Given the description of an element on the screen output the (x, y) to click on. 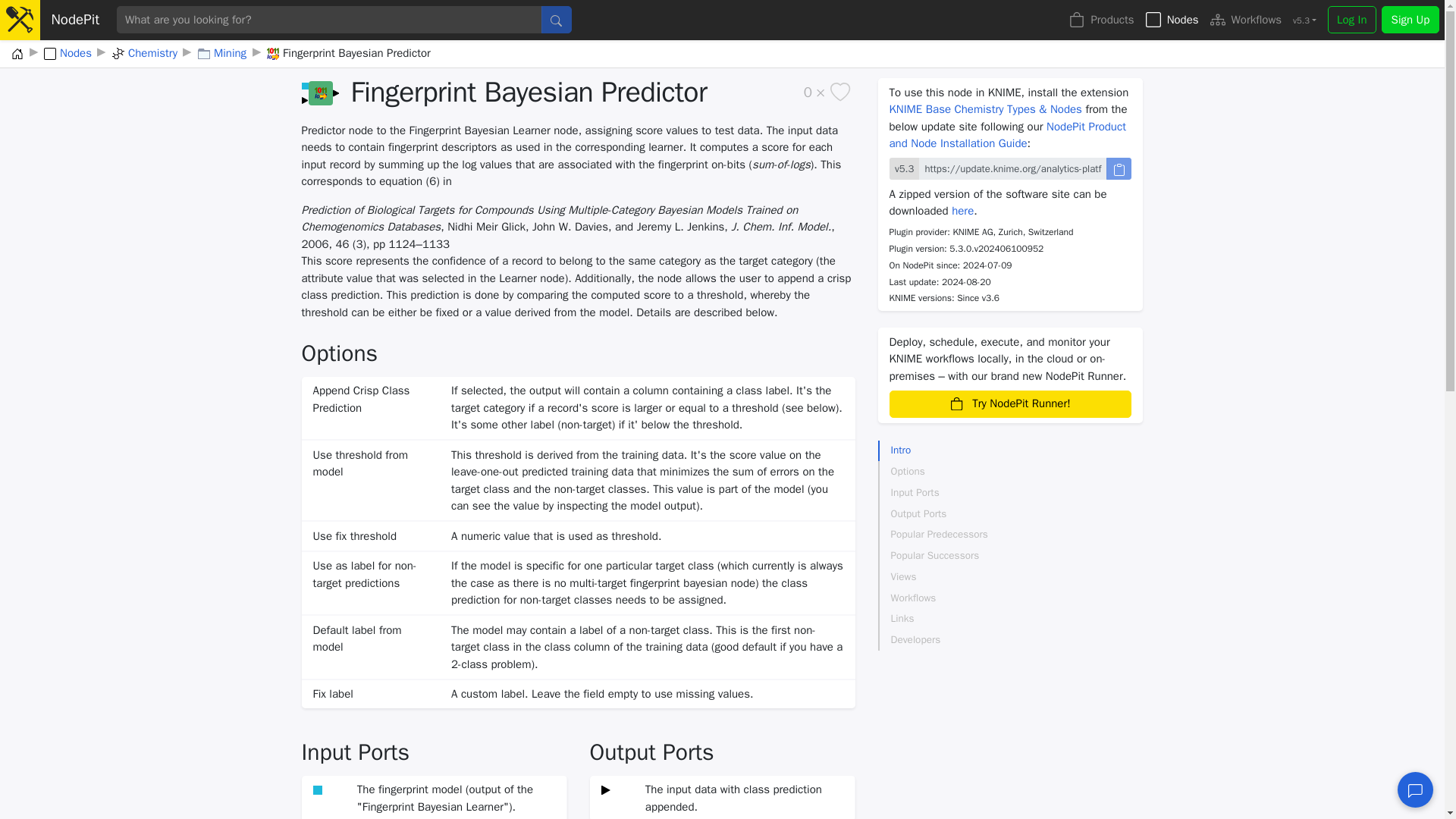
Port 0: Fingerprint Bayesian Model (318, 789)
Mining (222, 54)
Nodes (1172, 20)
Nodes (67, 54)
Workflows (1245, 20)
Products (1102, 20)
NodePit (80, 20)
Port 0: Predicted data (605, 789)
Log In (1351, 19)
Chemistry (144, 54)
